Given the description of an element on the screen output the (x, y) to click on. 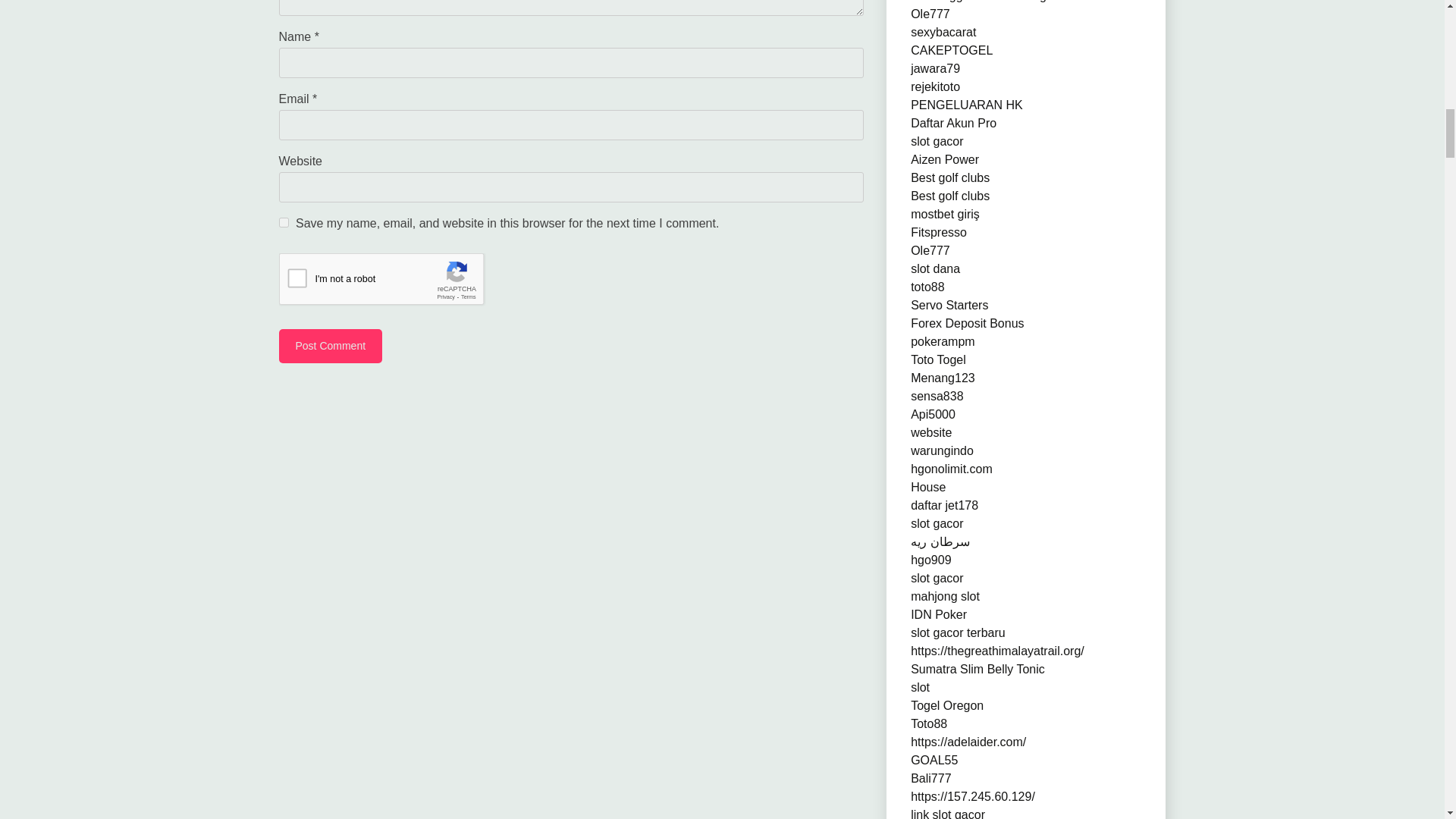
reCAPTCHA (394, 282)
Post Comment (330, 346)
yes (283, 222)
Post Comment (330, 346)
